Given the description of an element on the screen output the (x, y) to click on. 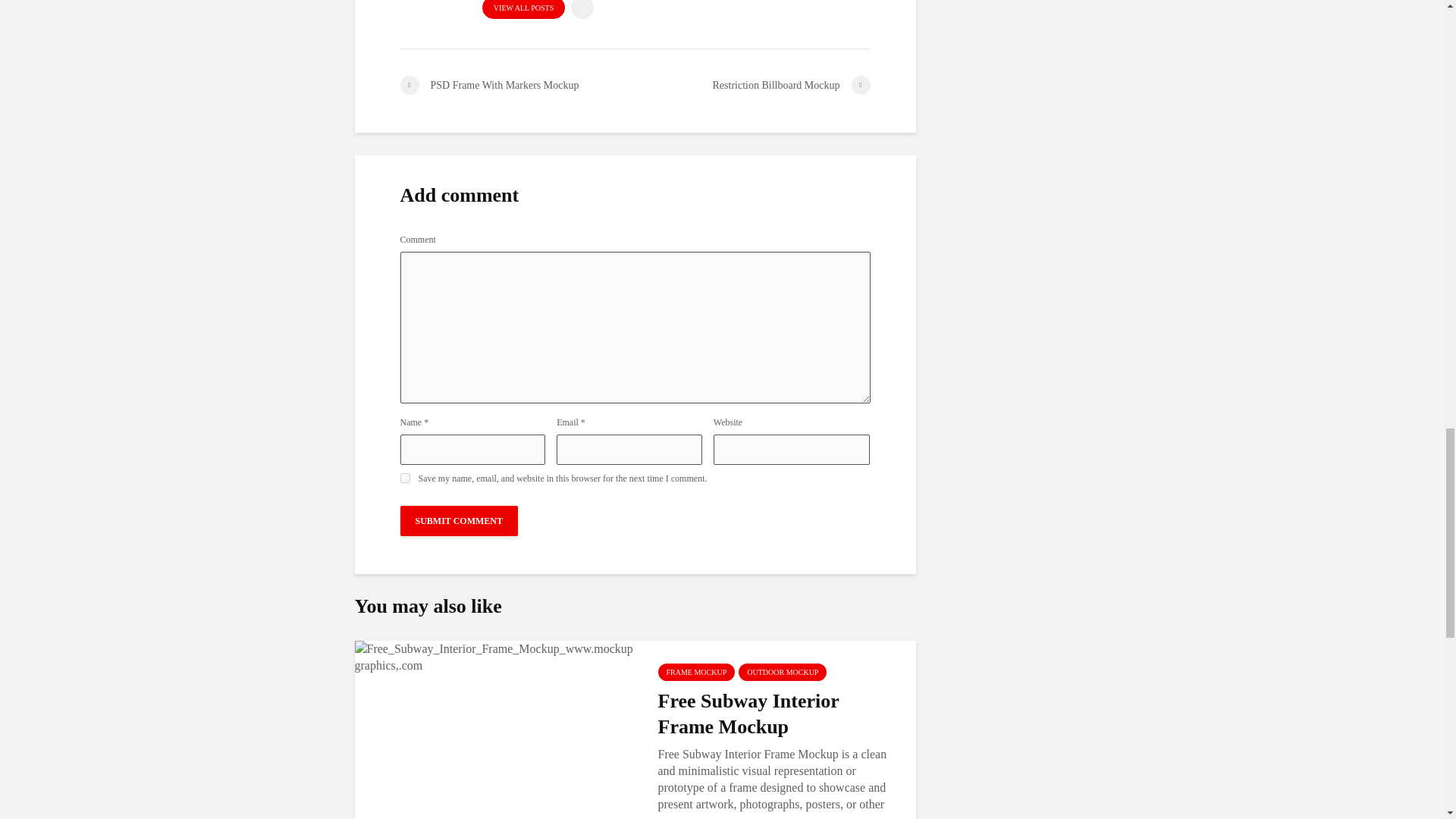
Submit Comment (459, 521)
Free Subway Interior Frame Mockup (494, 656)
yes (405, 478)
